Given the description of an element on the screen output the (x, y) to click on. 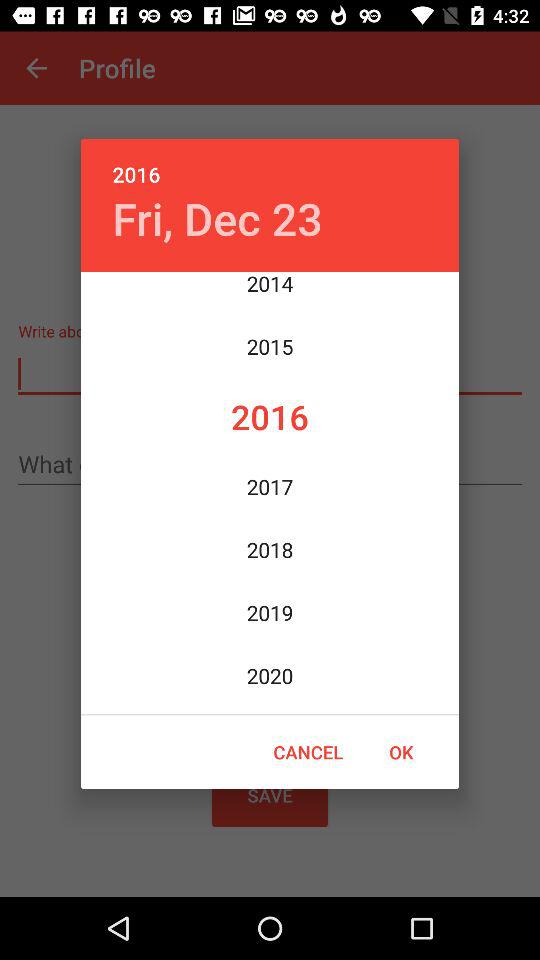
tap icon below the 2016 item (217, 218)
